Given the description of an element on the screen output the (x, y) to click on. 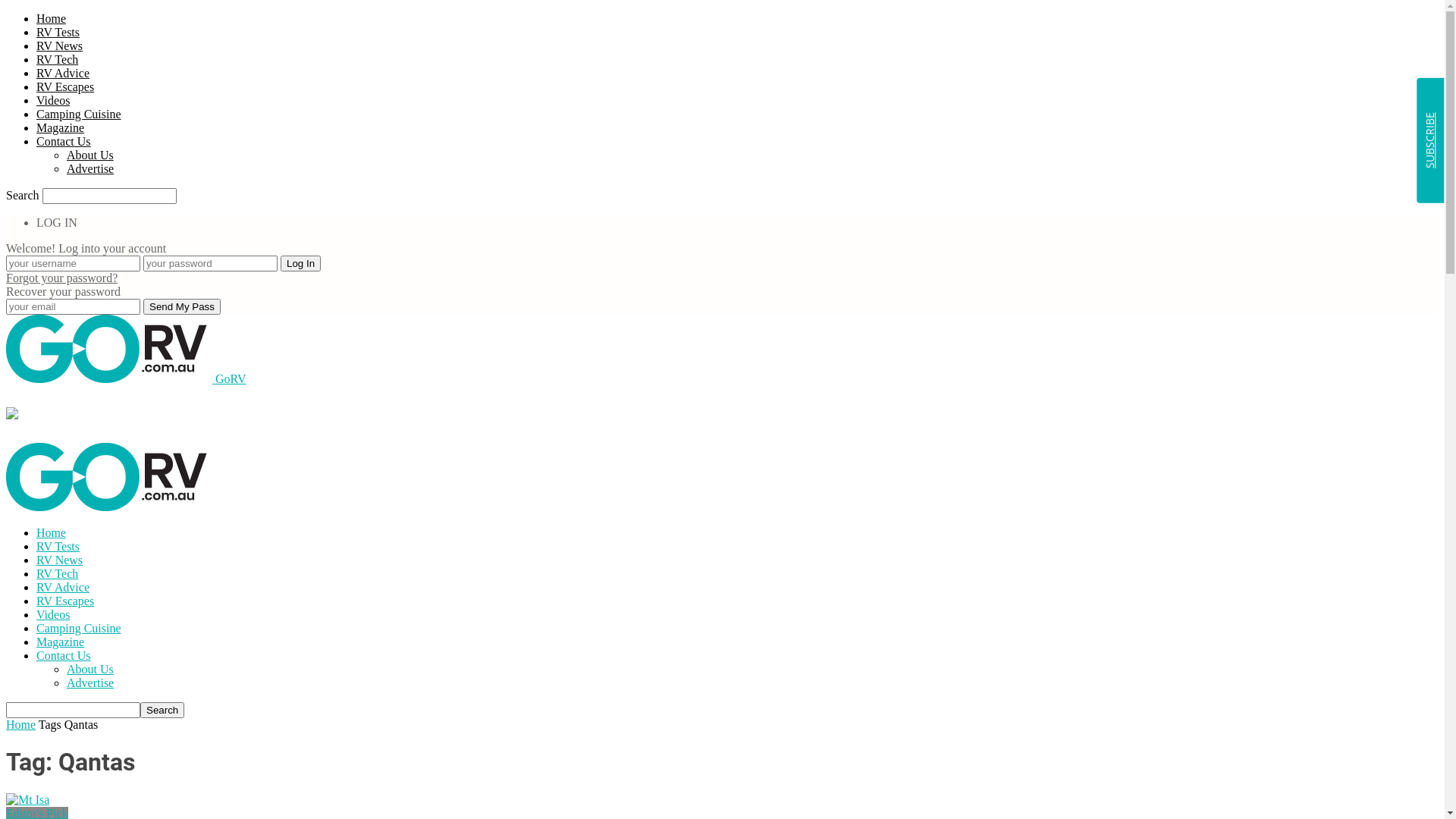
Home Element type: text (50, 532)
RV Escapes Element type: text (65, 86)
Home Element type: text (20, 724)
LOG IN Element type: text (56, 222)
RV Tech Element type: text (57, 573)
Camping Cuisine Element type: text (78, 113)
East of Mt Isa Element type: hover (27, 799)
RV Tech Element type: text (57, 59)
GoRV.com.au Element type: hover (109, 476)
Contact Us Element type: text (63, 140)
RV News Element type: text (59, 559)
East of Mt Isa Element type: hover (27, 799)
About Us Element type: text (89, 154)
RV Escapes Element type: text (65, 600)
Videos Element type: text (52, 614)
Contact Us Element type: text (63, 655)
RV Advice Element type: text (62, 586)
Search Element type: text (162, 710)
Forgot your password? Element type: text (61, 277)
RV Tests Element type: text (57, 31)
RV Tests Element type: text (57, 545)
Magazine Element type: text (60, 641)
GoRV Element type: text (126, 378)
Magazine Element type: text (60, 127)
Home Element type: text (50, 18)
RV News Element type: text (59, 45)
GoRV.com.au Element type: hover (109, 348)
RV Advice Element type: text (62, 72)
Advertise Element type: text (89, 682)
About Us Element type: text (89, 668)
Advertise Element type: text (89, 168)
Camping Cuisine Element type: text (78, 627)
Videos Element type: text (52, 100)
